Given the description of an element on the screen output the (x, y) to click on. 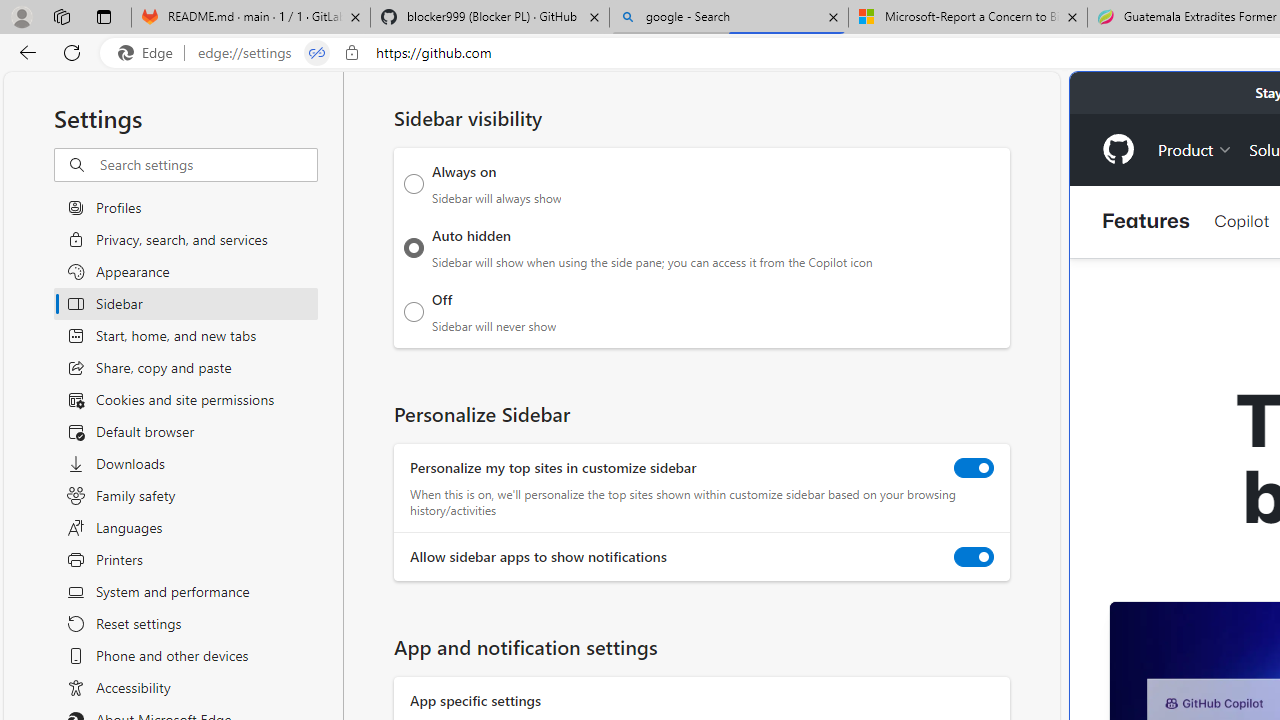
Personalize my top sites in customize sidebar (973, 467)
Product (1195, 148)
Homepage (1118, 149)
Always on Sidebar will always show (413, 183)
Search settings (207, 165)
google - Search (729, 17)
Copilot (1241, 220)
Tabs in split screen (317, 53)
Off Sidebar will never show (413, 311)
Features (1146, 221)
